Given the description of an element on the screen output the (x, y) to click on. 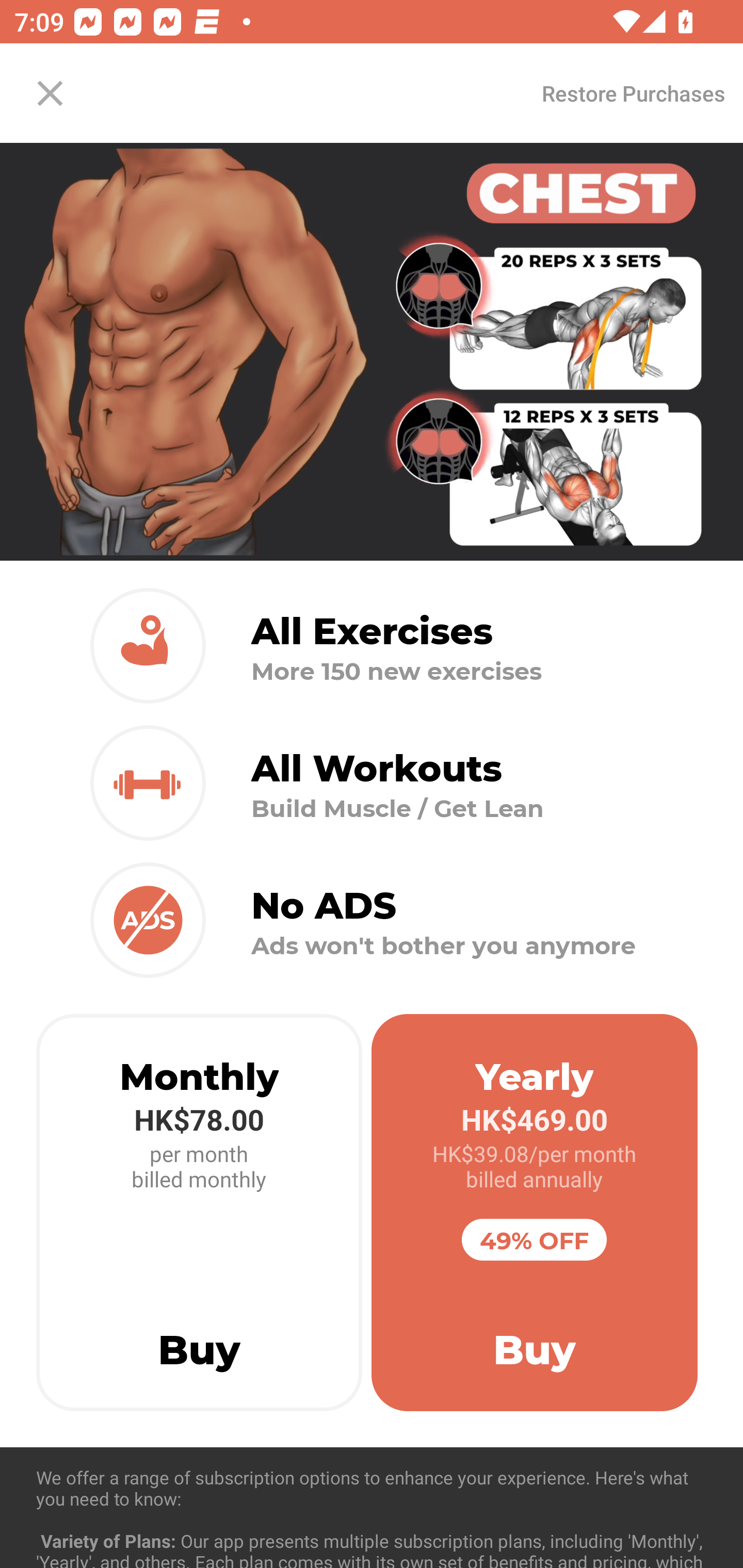
Restore Purchases (632, 92)
Monthly HK$78.00 per month
billed monthly Buy (199, 1212)
